Given the description of an element on the screen output the (x, y) to click on. 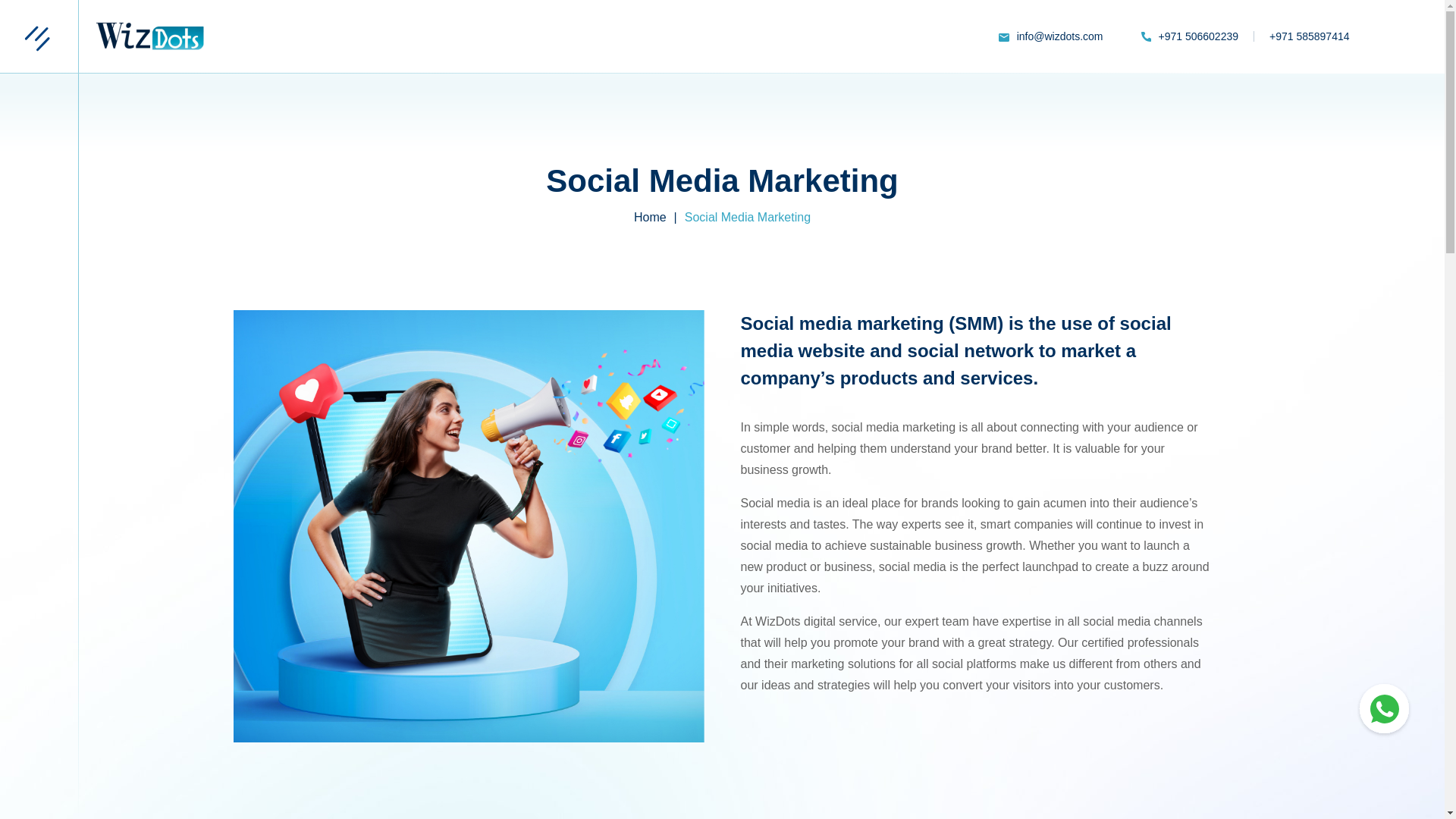
Home (649, 217)
Home (649, 217)
Wizdots (150, 36)
